Given the description of an element on the screen output the (x, y) to click on. 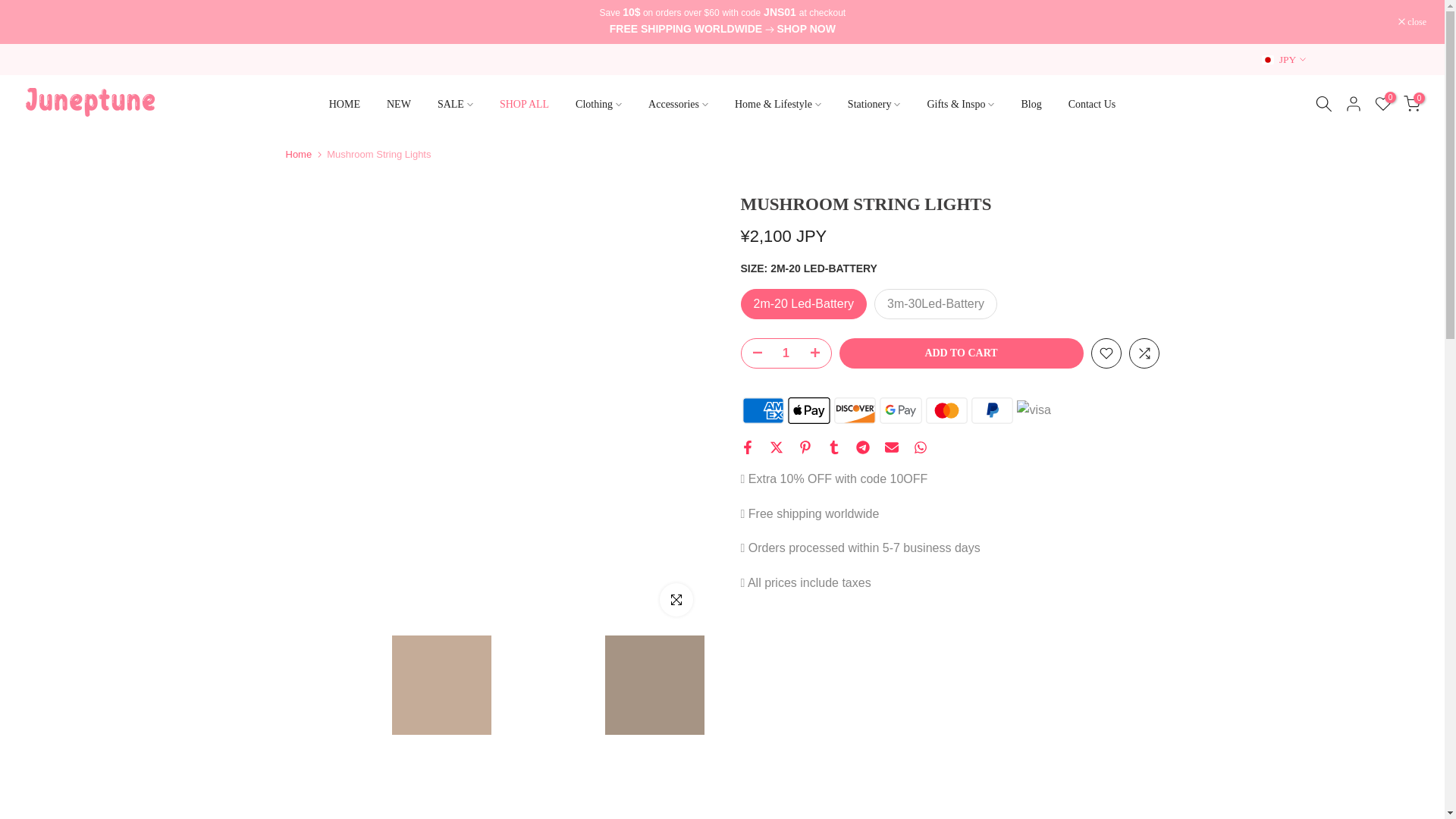
JPY (1284, 59)
Share on Email (890, 447)
SHOP NOW (805, 29)
close (1411, 21)
Share on Pinterest (803, 447)
Share on Twitter (775, 447)
Skip to content (10, 7)
Share on Facebook (746, 447)
Share on Tumblr (833, 447)
Share on WhatsApp (919, 447)
